Given the description of an element on the screen output the (x, y) to click on. 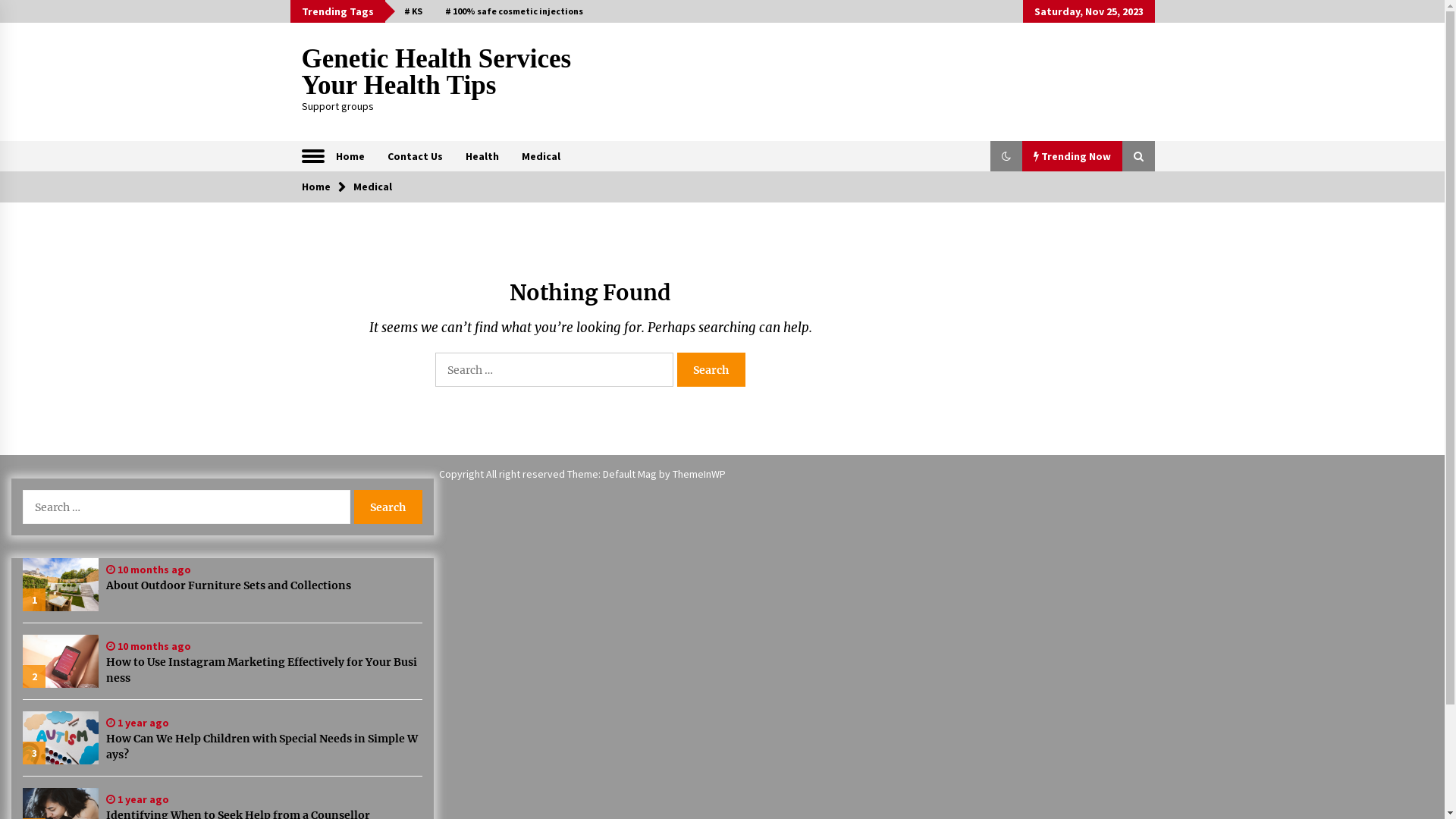
Search Element type: text (711, 369)
# 100% safe cosmetic injections Element type: text (513, 11)
Search Element type: text (387, 506)
Health Element type: text (481, 156)
How to Use Instagram Marketing Effectively for Your Business Element type: text (264, 670)
1 Element type: text (60, 584)
Home Element type: text (350, 156)
How Can We Help Children with Special Needs in Simple Ways? Element type: text (264, 746)
Medical Element type: text (540, 156)
2 Element type: text (60, 660)
About Outdoor Furniture Sets and Collections Element type: text (264, 585)
Contact Us Element type: text (415, 156)
ThemeInWP Element type: text (698, 473)
Home Element type: text (315, 186)
# KS Element type: text (412, 11)
3 Element type: text (60, 737)
Genetic Health Services Your Health Tips Element type: text (436, 71)
